Given the description of an element on the screen output the (x, y) to click on. 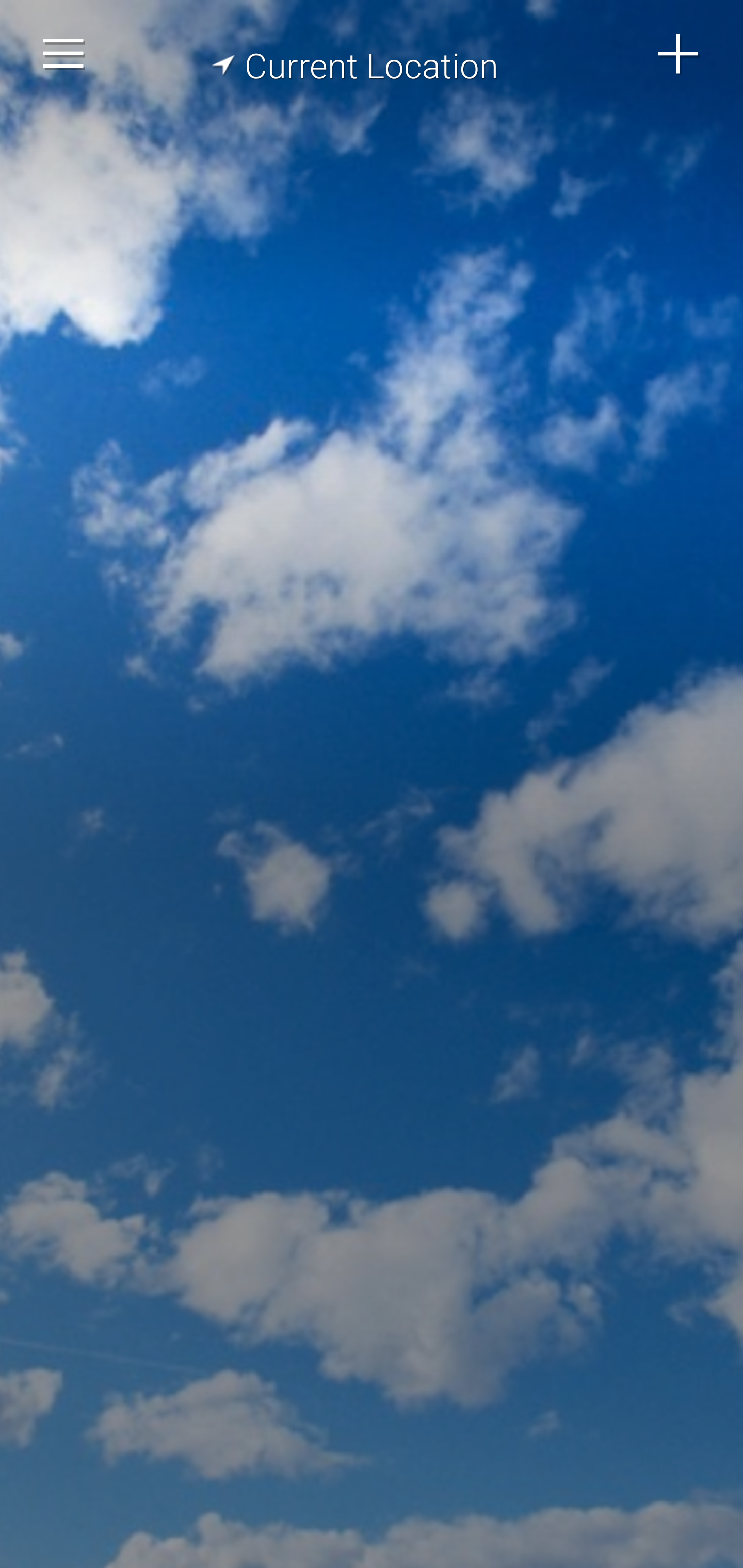
Sidebar (64, 54)
Add City (678, 53)
